Given the description of an element on the screen output the (x, y) to click on. 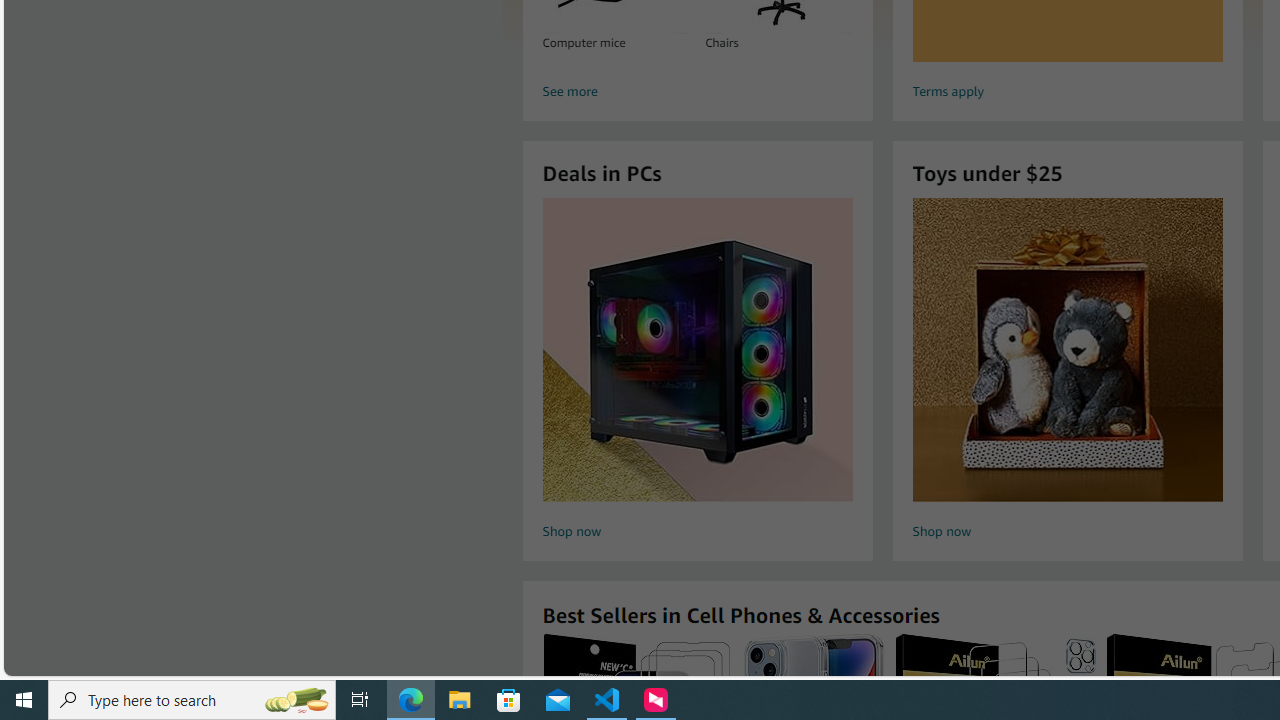
Toys under $25 (1067, 349)
See more (696, 92)
Deals in PCs Shop now (697, 371)
Deals in PCs (697, 349)
Toys under $25 Shop now (1067, 371)
